Given the description of an element on the screen output the (x, y) to click on. 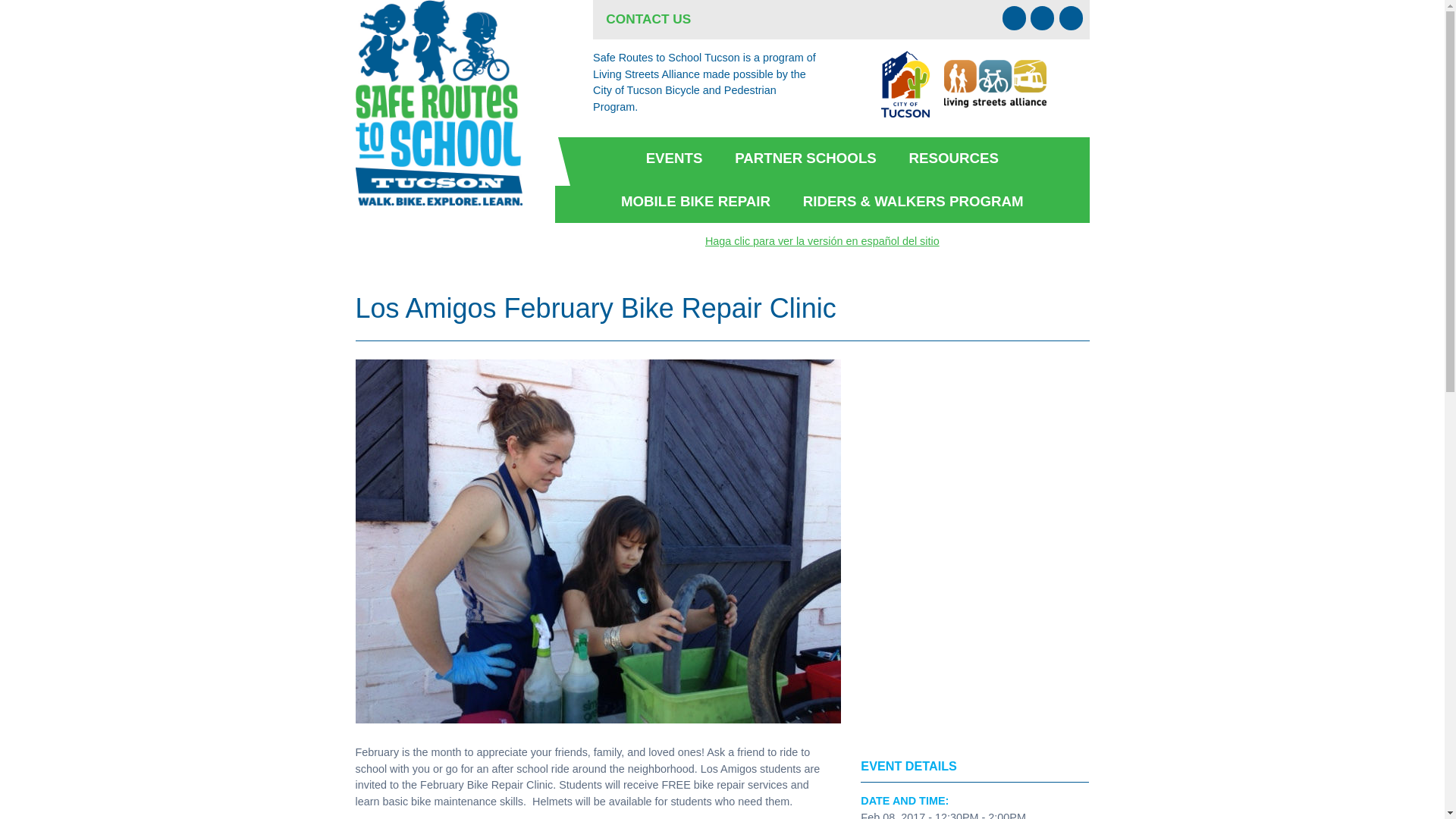
MOBILE BIKE REPAIR (695, 201)
RESOURCES (954, 158)
CONTACT US (647, 19)
PARTNER SCHOOLS (804, 158)
EVENTS (673, 158)
